Given the description of an element on the screen output the (x, y) to click on. 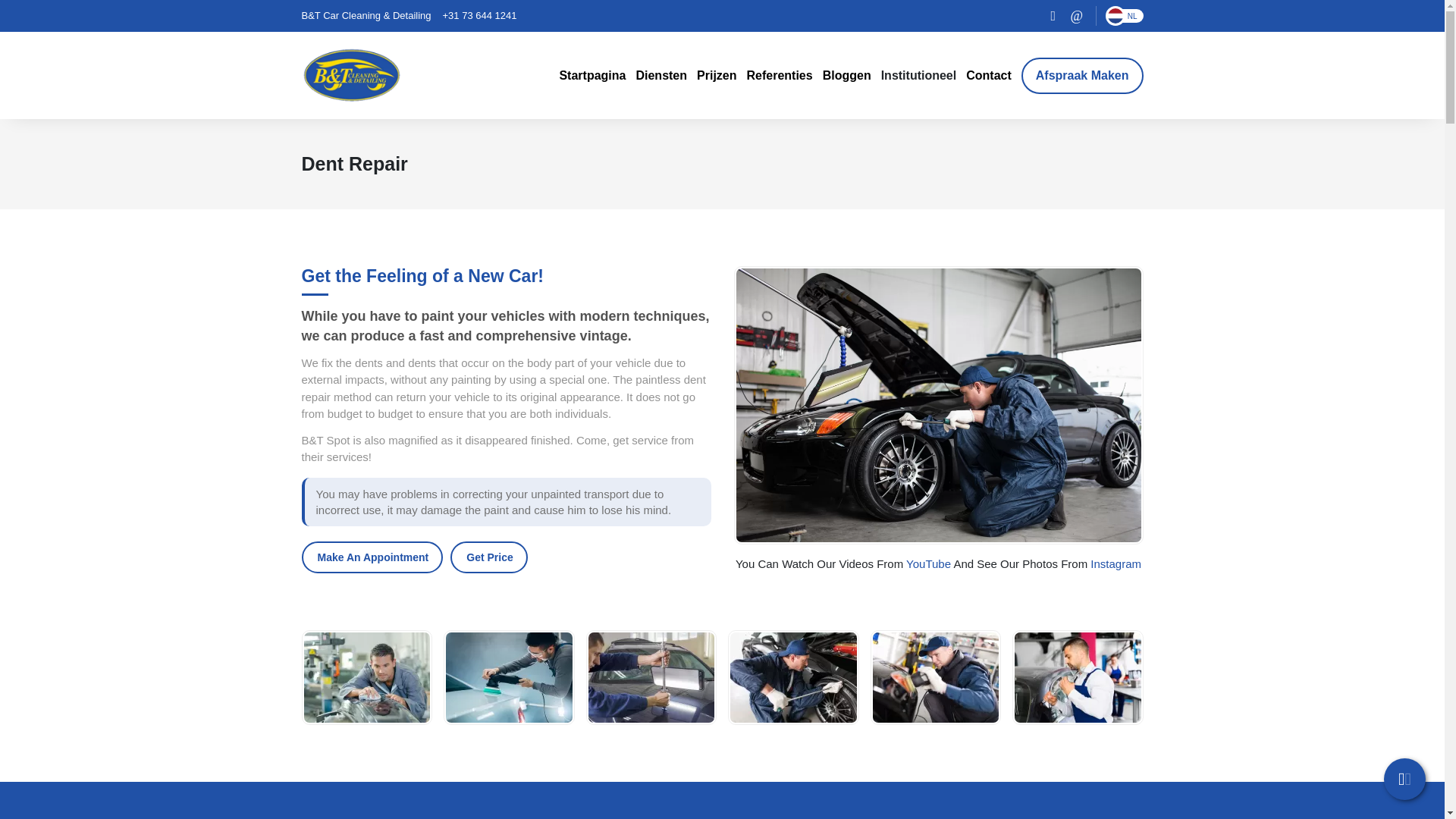
Referenties (778, 75)
Bloggen (846, 75)
E-Posta (1076, 15)
Institutioneel (918, 75)
Diensten (660, 75)
Instagram (1052, 15)
Prijzen (716, 75)
Diensten (660, 75)
Institutioneel (918, 75)
Referenties (778, 75)
